Given the description of an element on the screen output the (x, y) to click on. 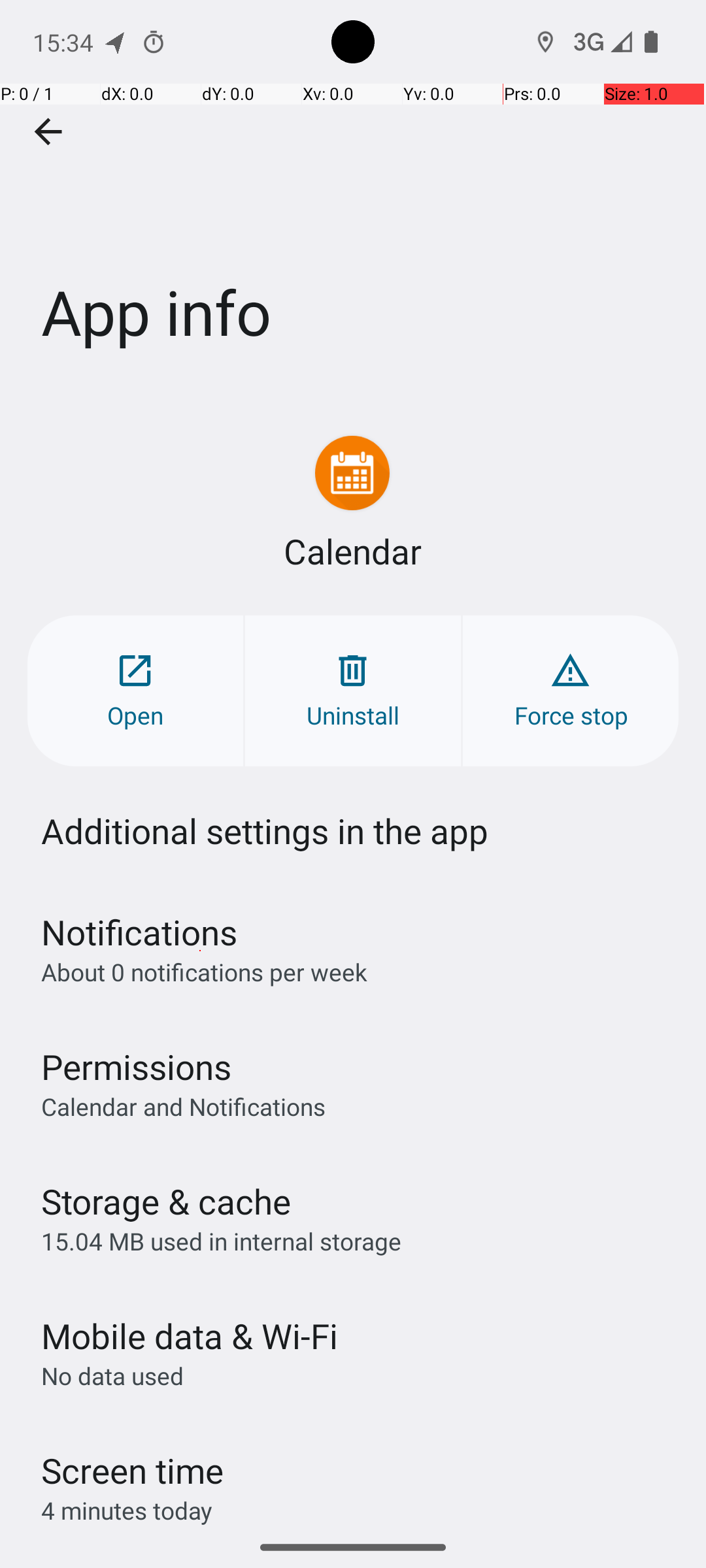
Calendar and Notifications Element type: android.widget.TextView (183, 1106)
15.04 MB used in internal storage Element type: android.widget.TextView (221, 1240)
4 minutes today Element type: android.widget.TextView (127, 1509)
